Given the description of an element on the screen output the (x, y) to click on. 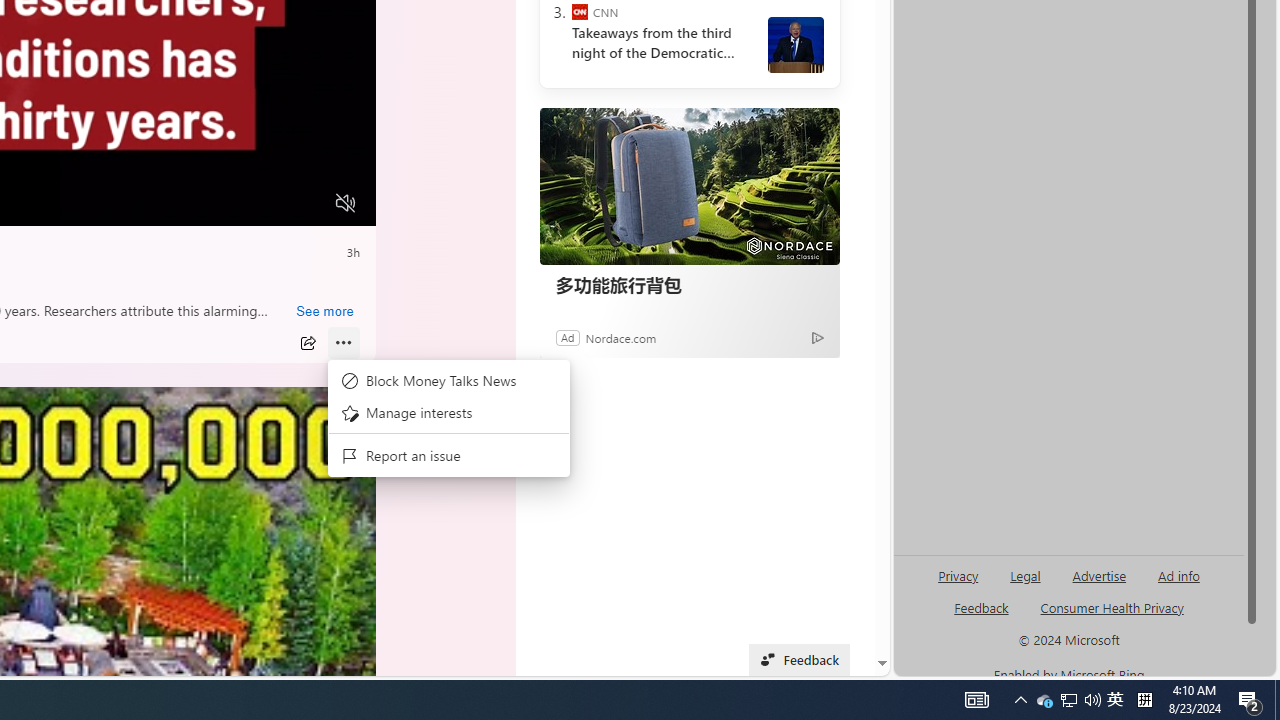
AutomationID: genId96 (981, 615)
CNN (579, 12)
Class: menu (448, 419)
Block Money Talks News menu item (448, 381)
Manage interests menu item (448, 412)
Class: at-item inline-watch (343, 343)
